Given the description of an element on the screen output the (x, y) to click on. 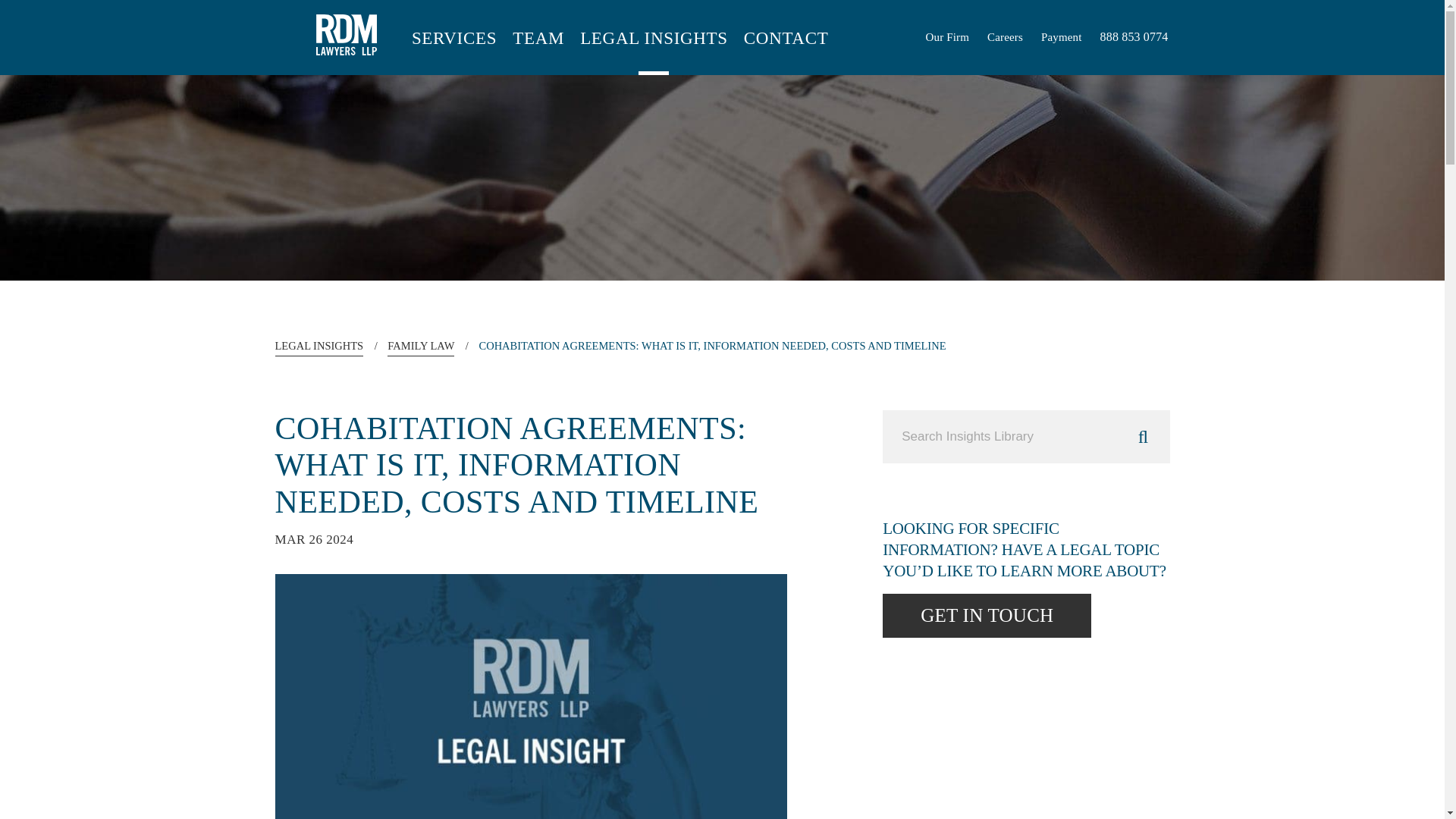
FAMILY LAW (420, 347)
GET IN TOUCH (986, 615)
Careers (1005, 38)
LEGAL INSIGHTS (318, 347)
SERVICES (451, 45)
Our Firm (947, 38)
LEGAL INSIGHTS (653, 45)
Payment (1061, 38)
CONTACT (786, 45)
submit (1142, 436)
